Given the description of an element on the screen output the (x, y) to click on. 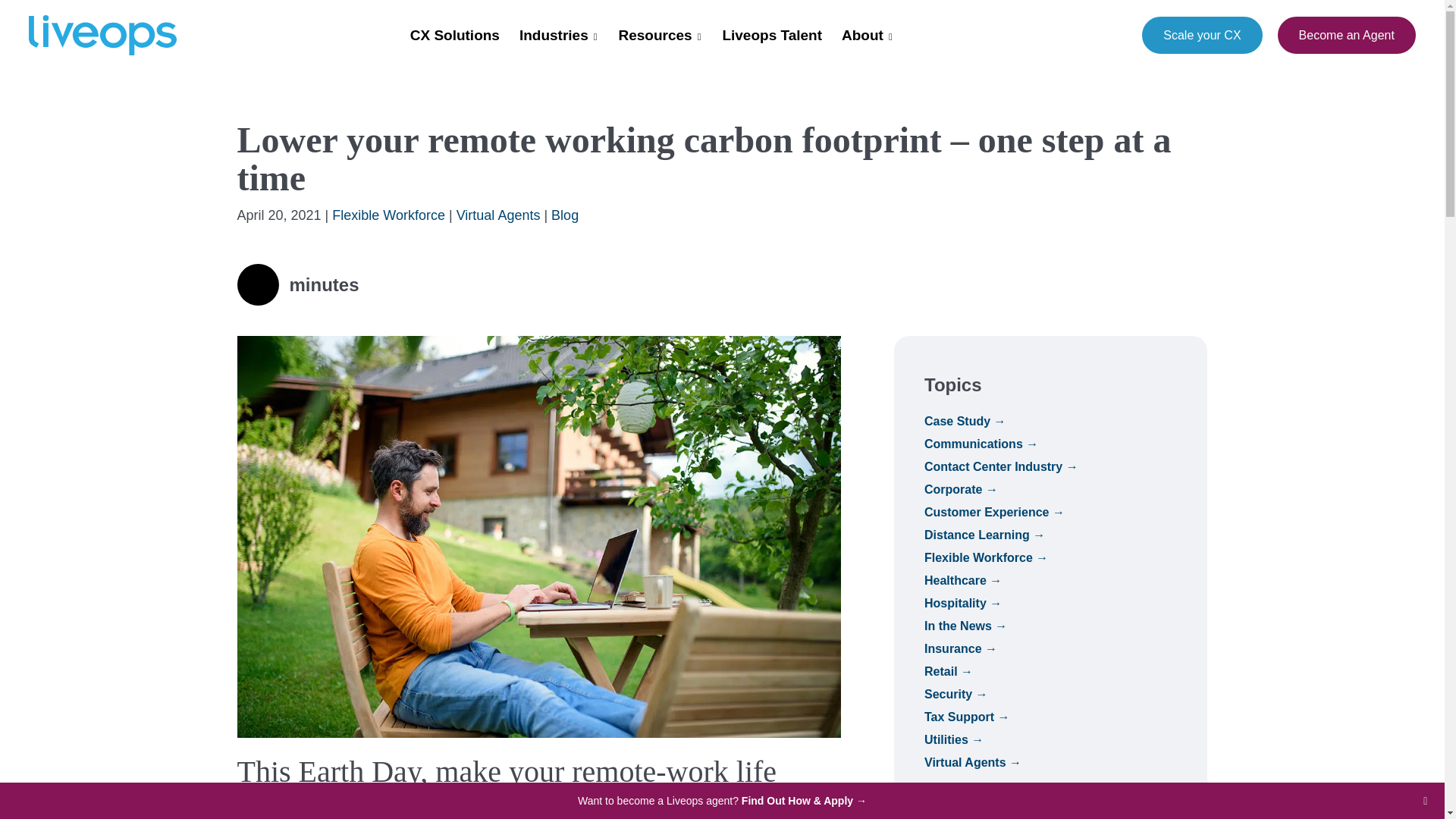
Become an Agent (1346, 35)
Scale your CX (1201, 35)
Blog (564, 215)
CX Solutions (454, 35)
Virtual Agents (498, 215)
Liveops Talent (771, 35)
About (865, 35)
Resources (657, 35)
Industries (557, 35)
Flexible Workforce (388, 215)
